Given the description of an element on the screen output the (x, y) to click on. 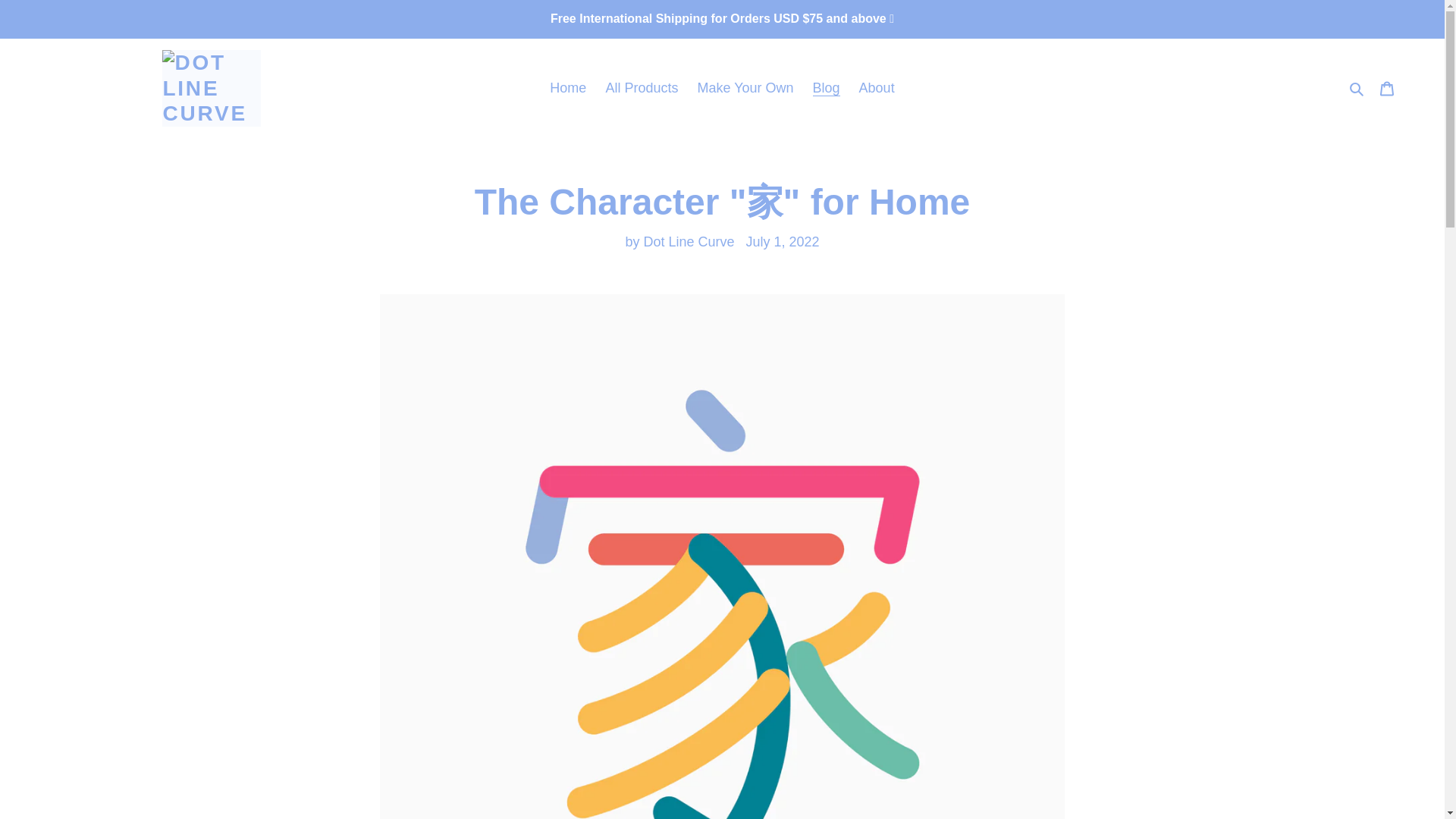
About (876, 88)
Make Your Own (744, 88)
Cart (1387, 88)
Blog (826, 88)
Home (567, 88)
Search (1357, 87)
All Products (640, 88)
